Given the description of an element on the screen output the (x, y) to click on. 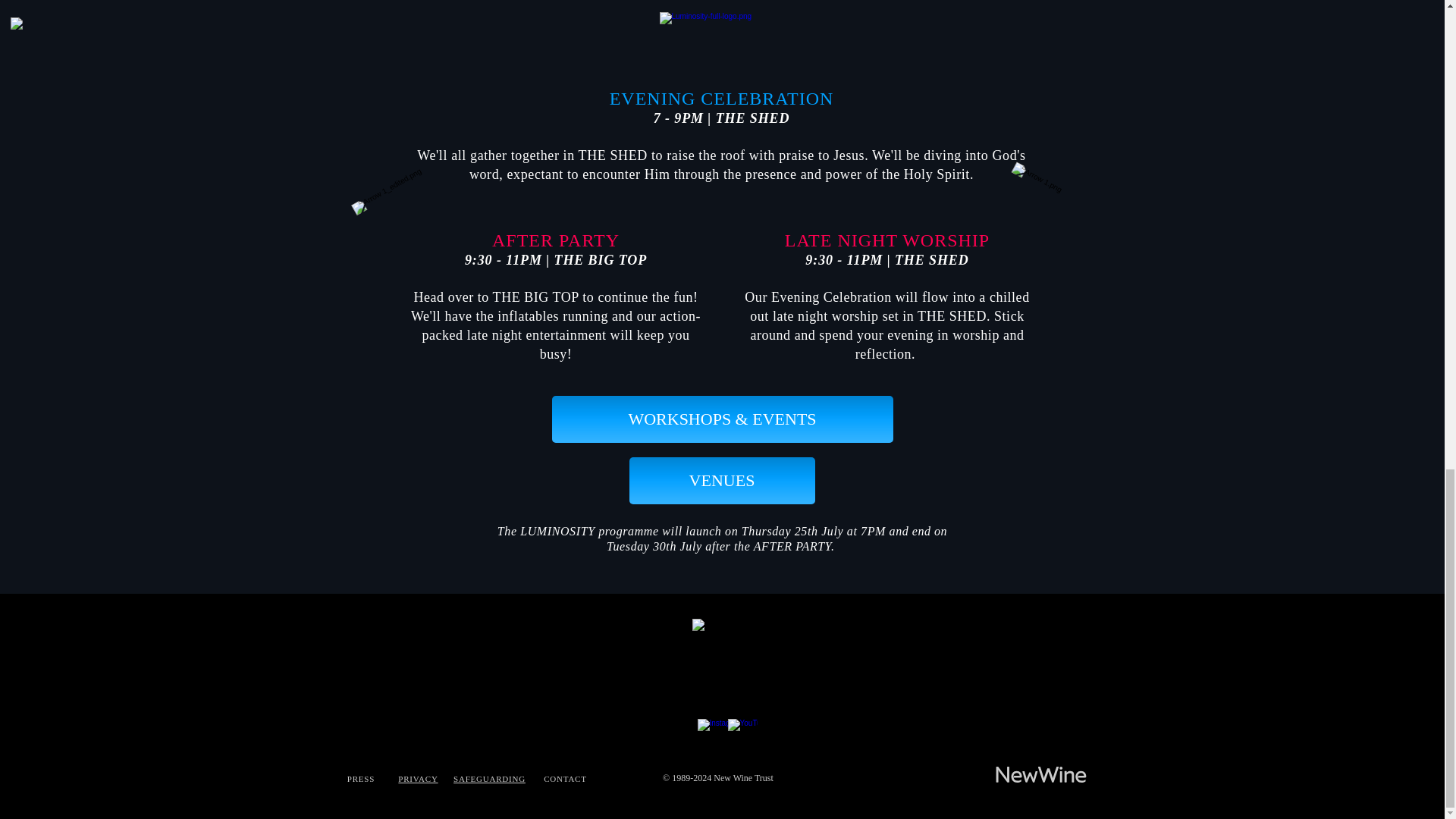
VENUES (721, 480)
PRESS (360, 777)
CONTACT (564, 777)
SAFEGUARDING (488, 777)
PRIVACY (417, 777)
